Given the description of an element on the screen output the (x, y) to click on. 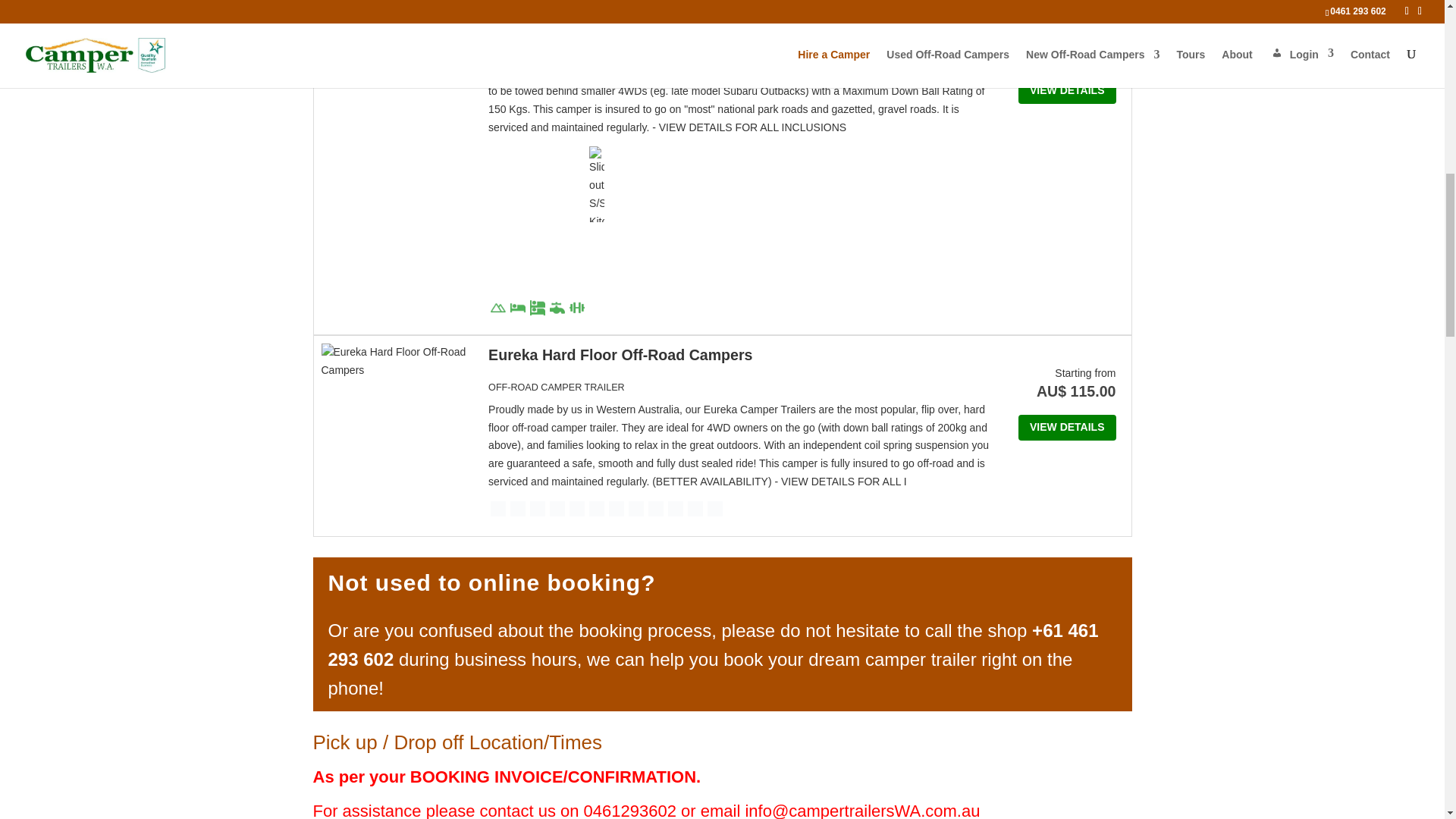
VIEW DETAILS (1066, 427)
VIEW DETAILS (1066, 90)
Eureka Hard Floor Off-Road Campers (619, 354)
